Given the description of an element on the screen output the (x, y) to click on. 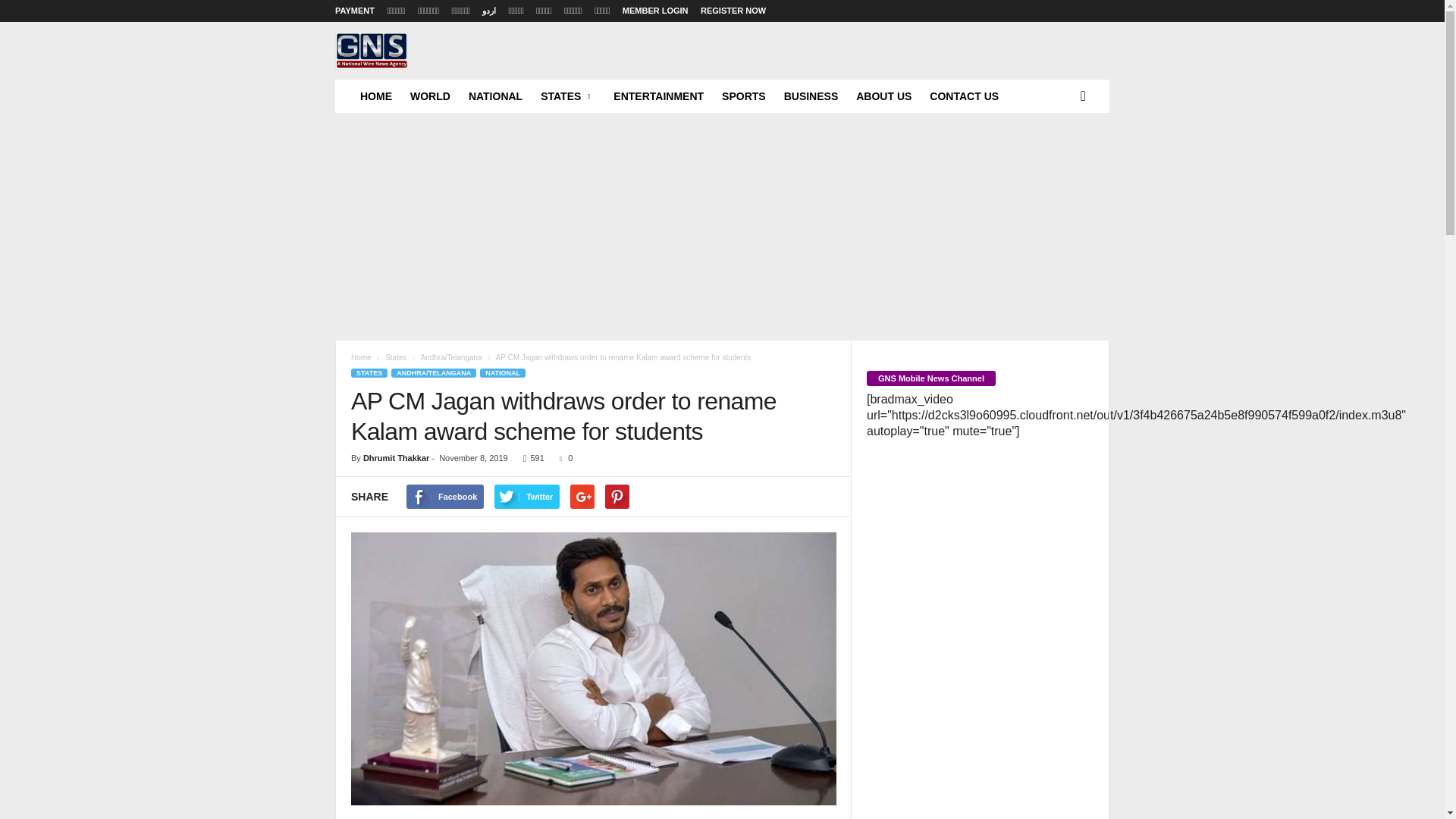
GNS News (437, 70)
GNS News (370, 50)
Jagan (592, 668)
REGISTER NOW (732, 10)
PAYMENT (354, 10)
View all posts in States (395, 356)
MEMBER LOGIN (655, 10)
